Given the description of an element on the screen output the (x, y) to click on. 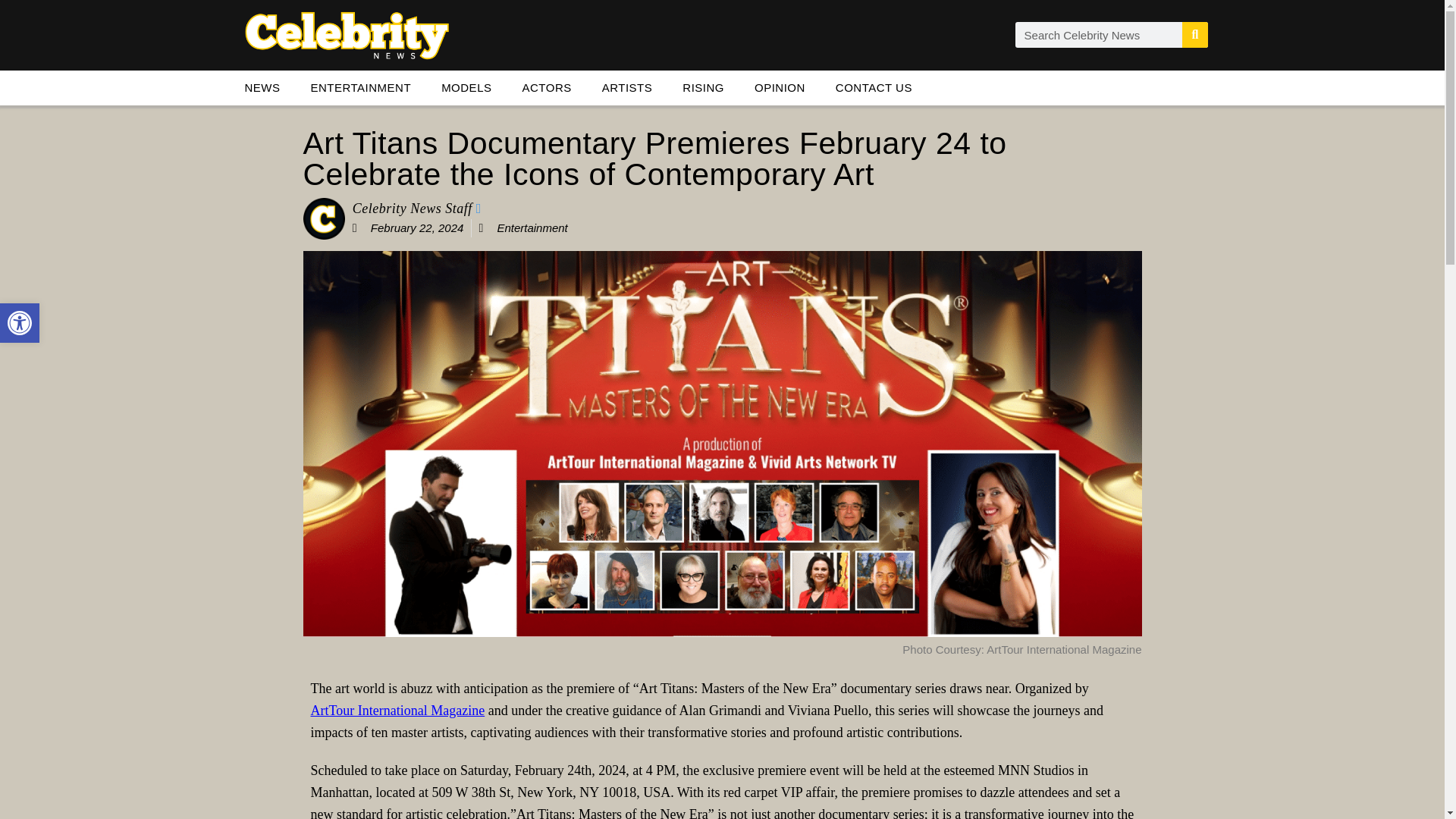
RISING (702, 87)
Accessibility Tools (19, 323)
ENTERTAINMENT (360, 87)
ARTISTS (19, 323)
CONTACT US (627, 87)
NEWS (874, 87)
ACTORS (261, 87)
Accessibility Tools (546, 87)
MODELS (19, 322)
